Given the description of an element on the screen output the (x, y) to click on. 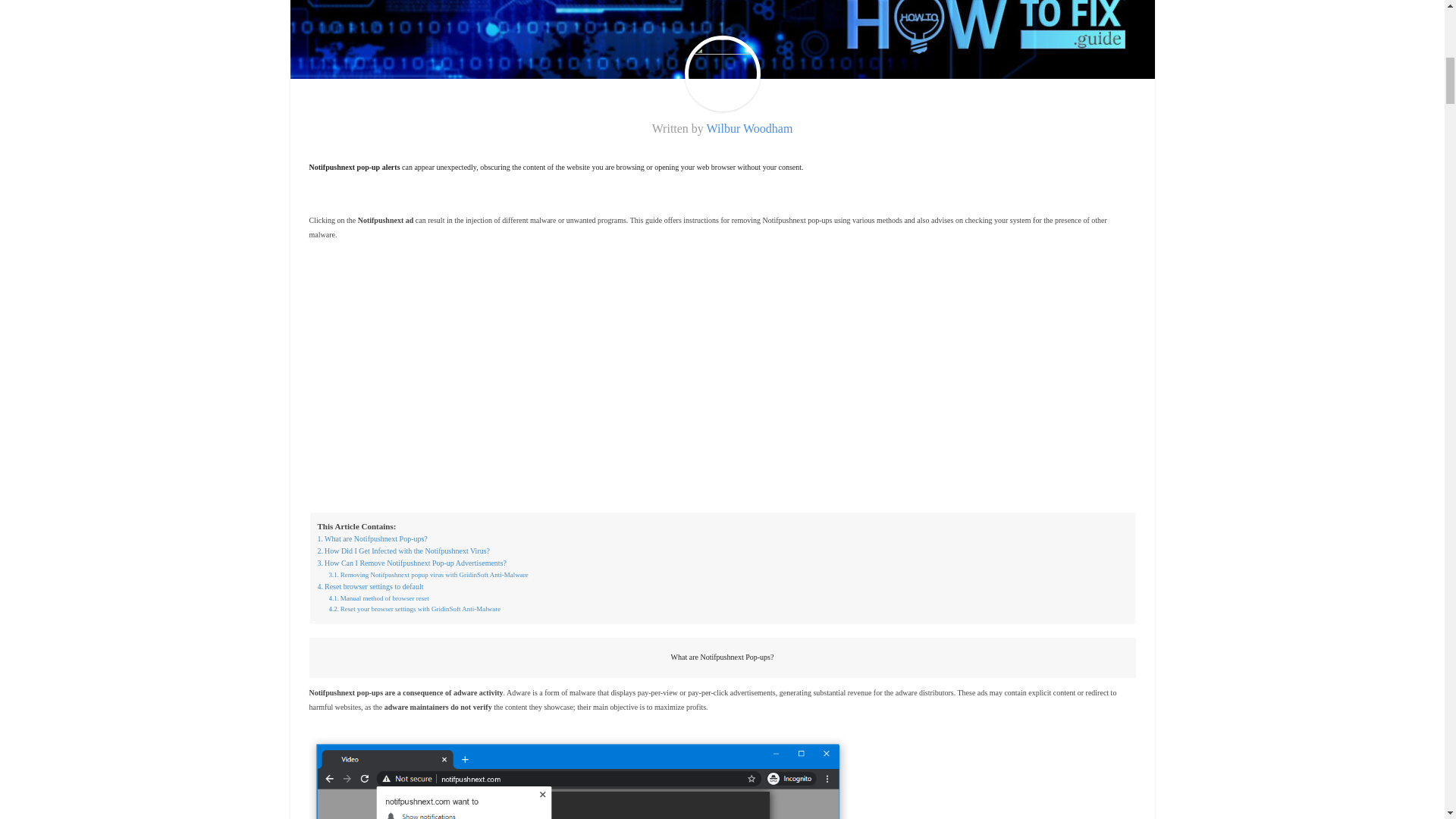
Manual method of browser reset (379, 597)
Reset your browser settings with GridinSoft Anti-Malware (414, 608)
How Can I Remove Notifpushnext Pop-up Advertisements? (411, 563)
How Can I Remove Notifpushnext Pop-up Advertisements? (411, 563)
Wilbur Woodham (749, 128)
How Did I Get Infected with the Notifpushnext Virus? (403, 551)
Manual method of browser reset (379, 597)
What are Notifpushnext Pop-ups? (371, 539)
Reset browser settings to default (370, 586)
Reset your browser settings with GridinSoft Anti-Malware (414, 608)
Reset browser settings to default (370, 586)
How Did I Get Infected with the Notifpushnext Virus? (403, 551)
What are Notifpushnext Pop-ups? (371, 539)
